Given the description of an element on the screen output the (x, y) to click on. 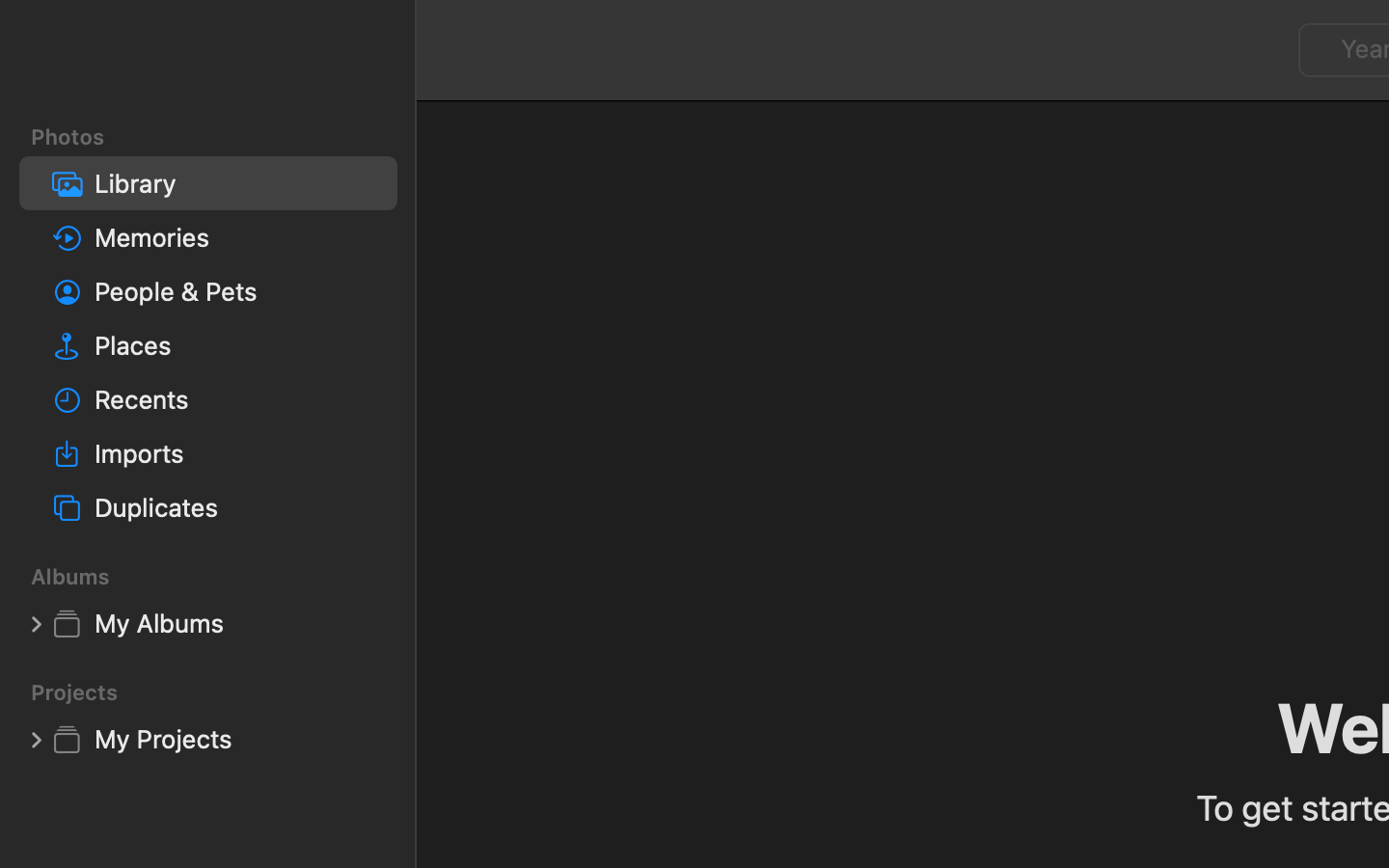
Albums Element type: AXStaticText (219, 576)
Places Element type: AXStaticText (237, 344)
Projects Element type: AXStaticText (219, 691)
0 Element type: AXDisclosureTriangle (35, 623)
People & Pets Element type: AXStaticText (237, 290)
